Given the description of an element on the screen output the (x, y) to click on. 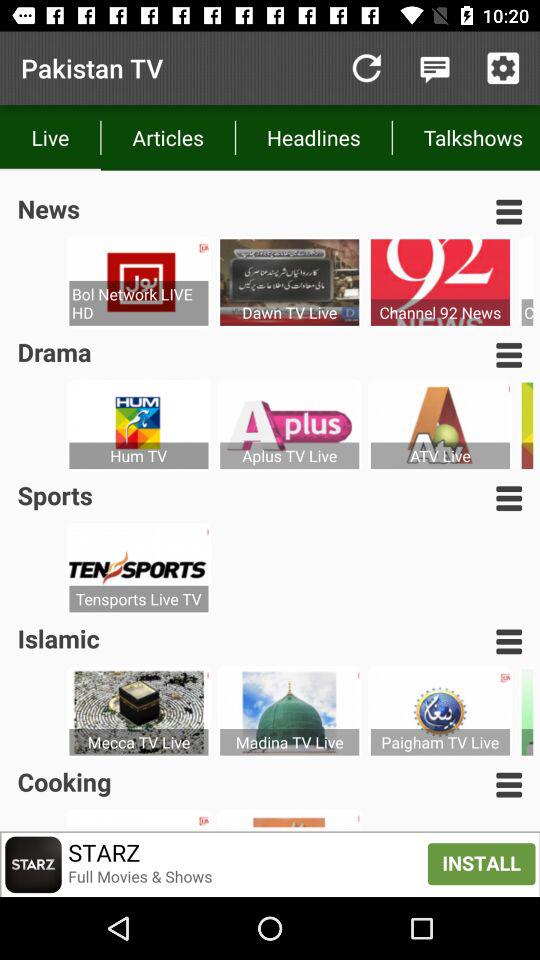
click the paigham tv live (440, 742)
